Given the description of an element on the screen output the (x, y) to click on. 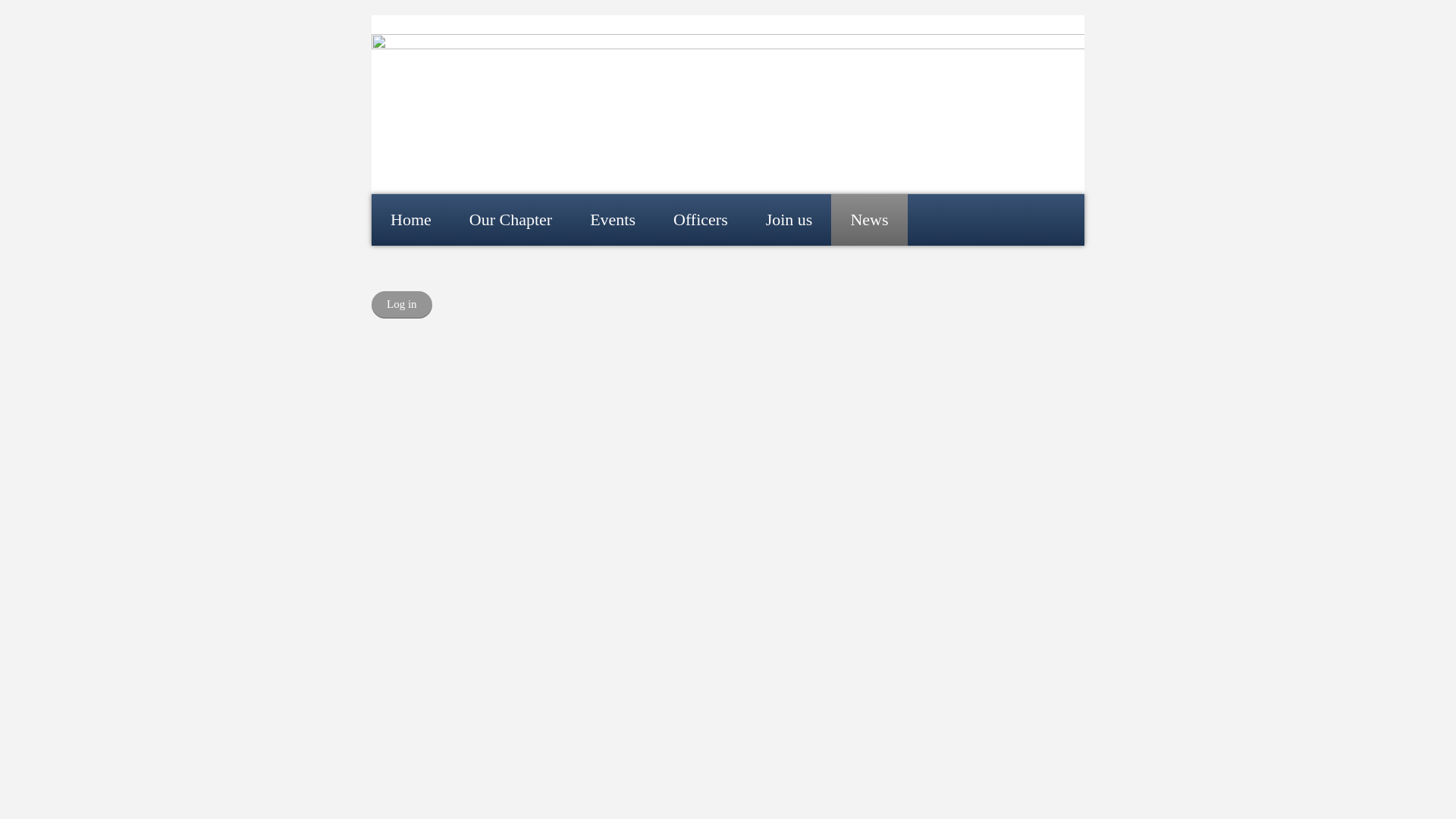
Events (611, 219)
Officers (699, 219)
Home (410, 219)
News (869, 219)
Our Chapter (509, 219)
Home (410, 219)
Log in (401, 304)
Events (611, 219)
Officers (699, 219)
Our Chapter (509, 219)
